Given the description of an element on the screen output the (x, y) to click on. 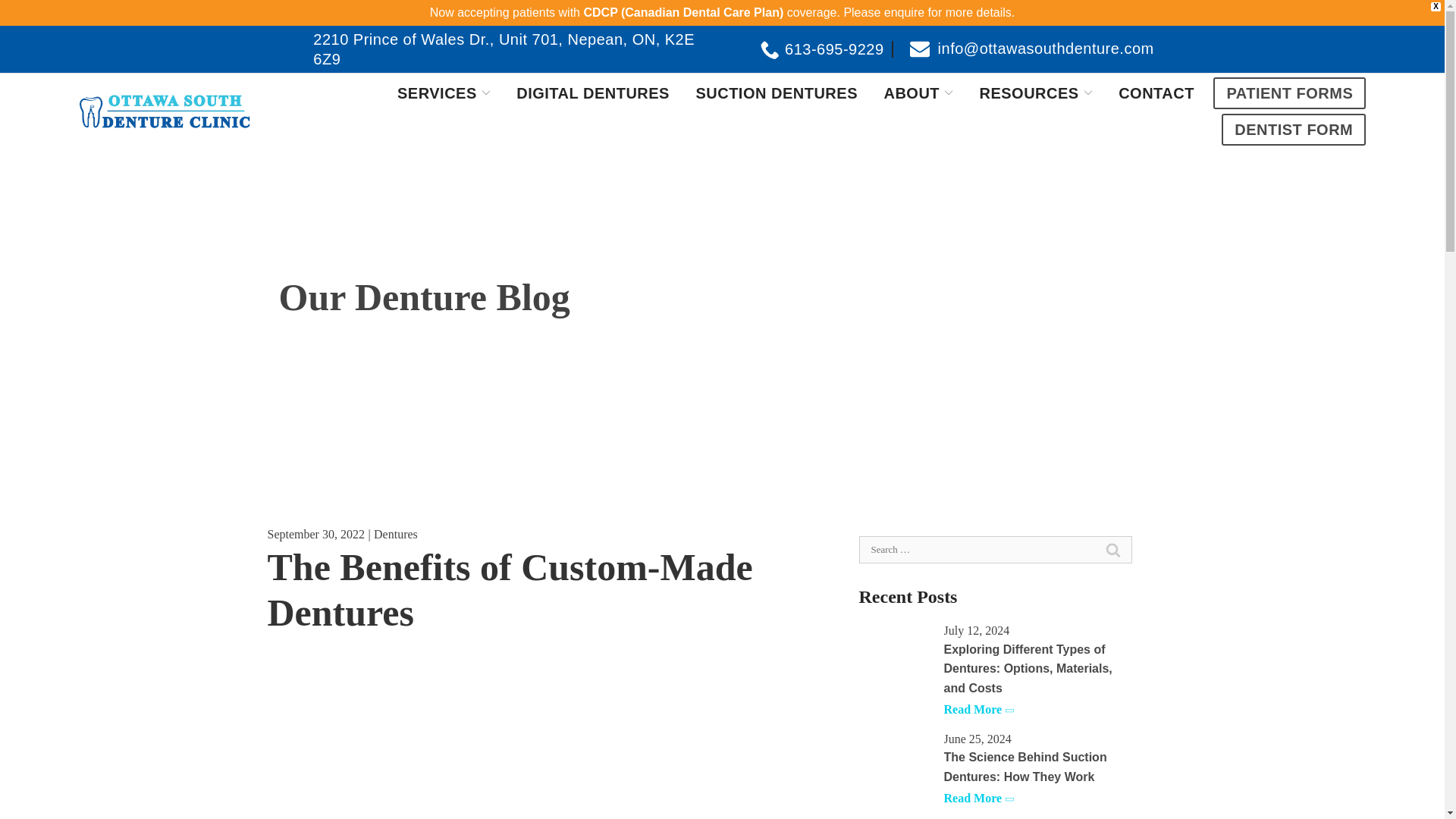
DIGITAL DENTURES (592, 93)
2210 Prince of Wales Dr., Unit 701, Nepean, ON, K2E 6Z9 (501, 48)
RESOURCES (1036, 93)
PATIENT FORMS (1288, 92)
CONTACT (1155, 93)
SERVICES (443, 93)
ABOUT (918, 93)
SUCTION DENTURES (776, 93)
613-695-9229 (826, 48)
